Given the description of an element on the screen output the (x, y) to click on. 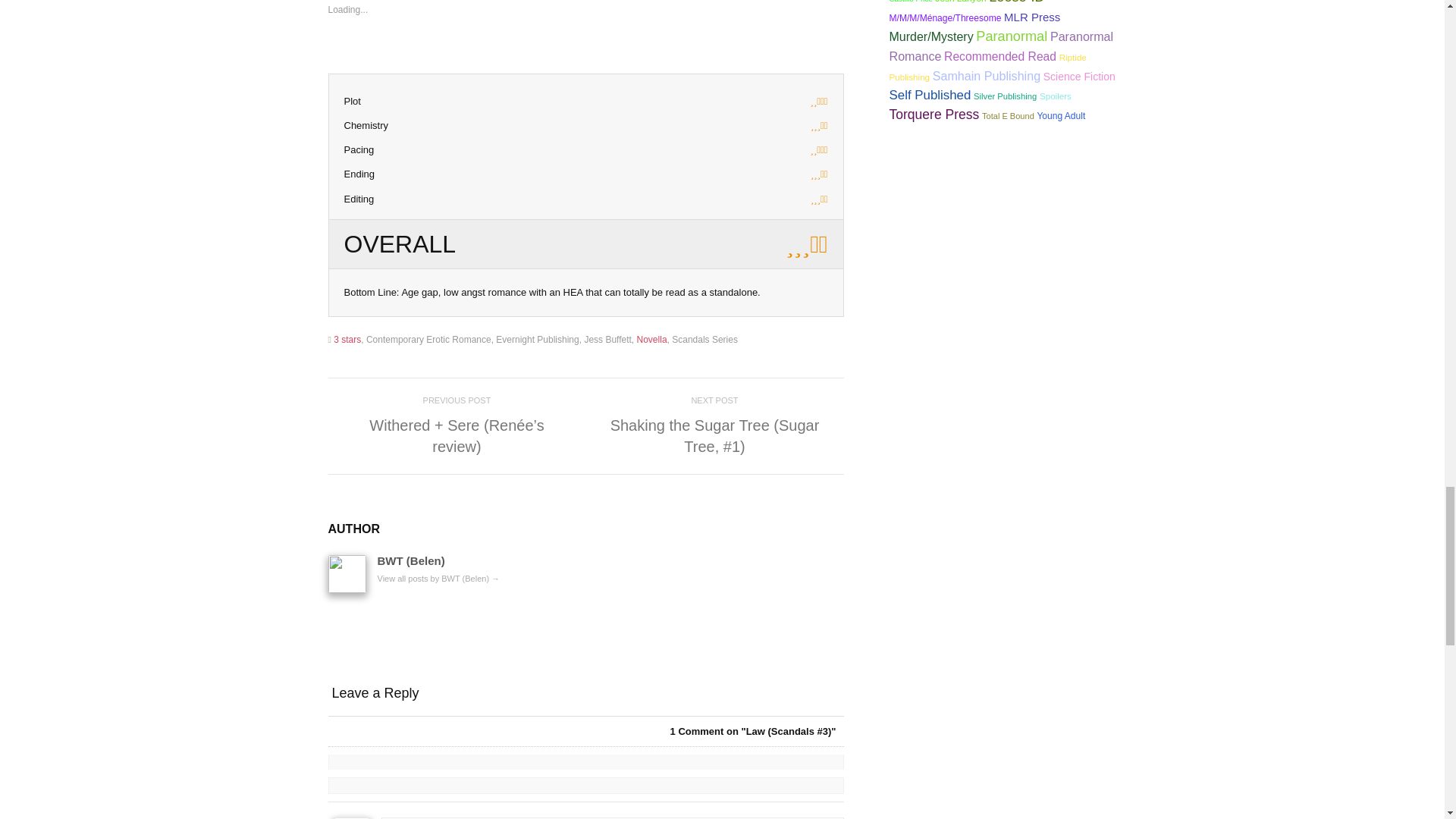
2.5 (713, 101)
2.80 (713, 243)
3 (713, 174)
3 (713, 199)
3 (713, 125)
2.5 (713, 149)
